Given the description of an element on the screen output the (x, y) to click on. 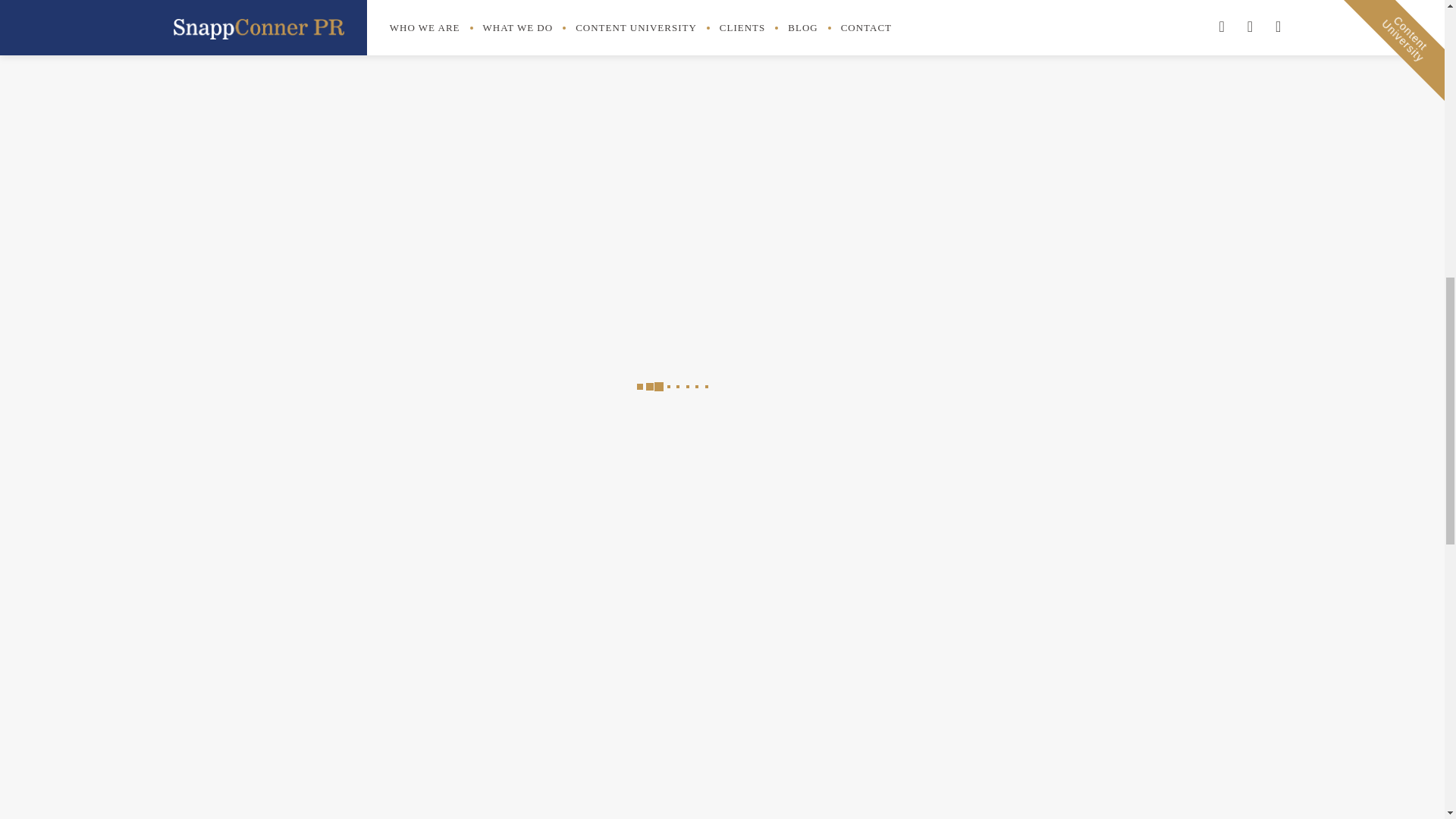
Share this post on LinkedIn (817, 112)
Share this post on Twitter (783, 112)
Share this post on Facebook (748, 112)
Inspirational (945, 18)
Journalism Industry (963, 45)
